Given the description of an element on the screen output the (x, y) to click on. 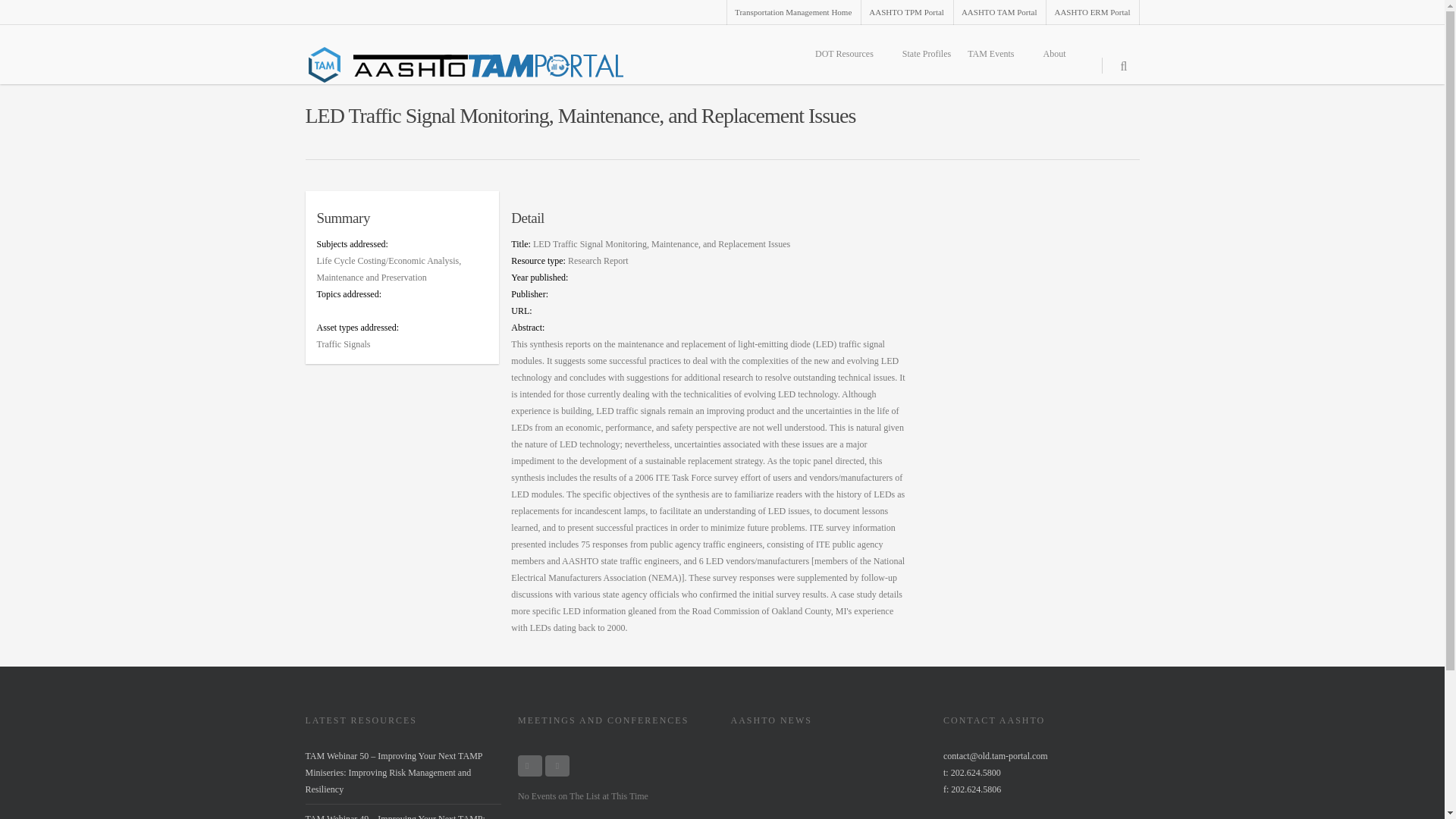
AASHTO TAM Portal (999, 12)
AASHTO ERM Portal (1091, 12)
About (1060, 53)
State Profiles (926, 53)
TAM Events (996, 53)
Transportation Management Home (792, 12)
AASHTO TPM Portal (906, 12)
DOT Resources (850, 53)
